Given the description of an element on the screen output the (x, y) to click on. 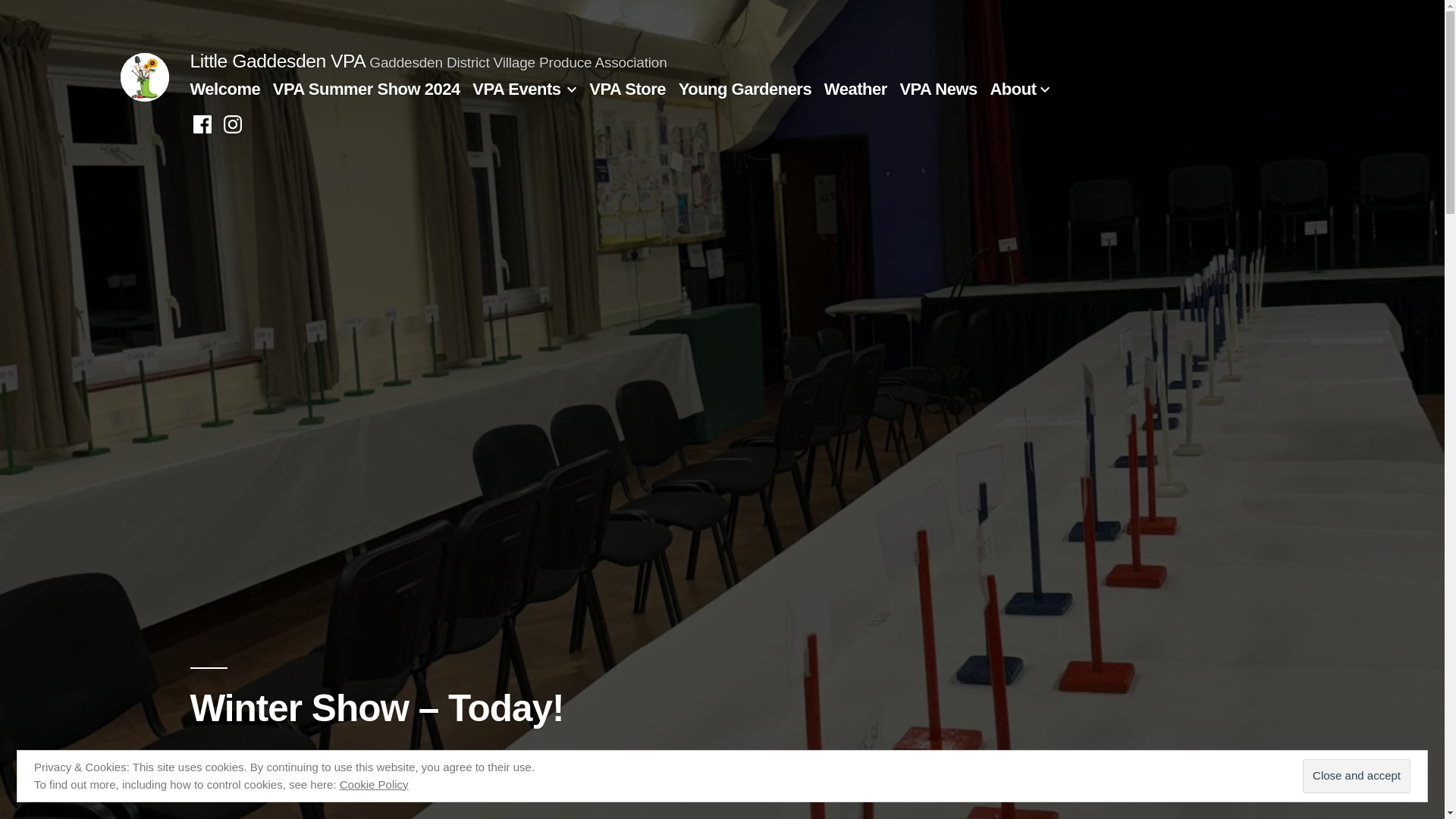
VPA Summer Show 2024 (366, 88)
Close and accept (1356, 776)
Instagram (232, 124)
2 February 2024 (400, 757)
VPA Store (627, 88)
Young Gardeners (745, 88)
Welcome (224, 88)
VPA News (937, 88)
Your VPA Committee (262, 757)
About (1012, 88)
VPA Events (515, 88)
Weather (855, 88)
Little Gaddesden VPA (277, 60)
Facebook (201, 124)
